Given the description of an element on the screen output the (x, y) to click on. 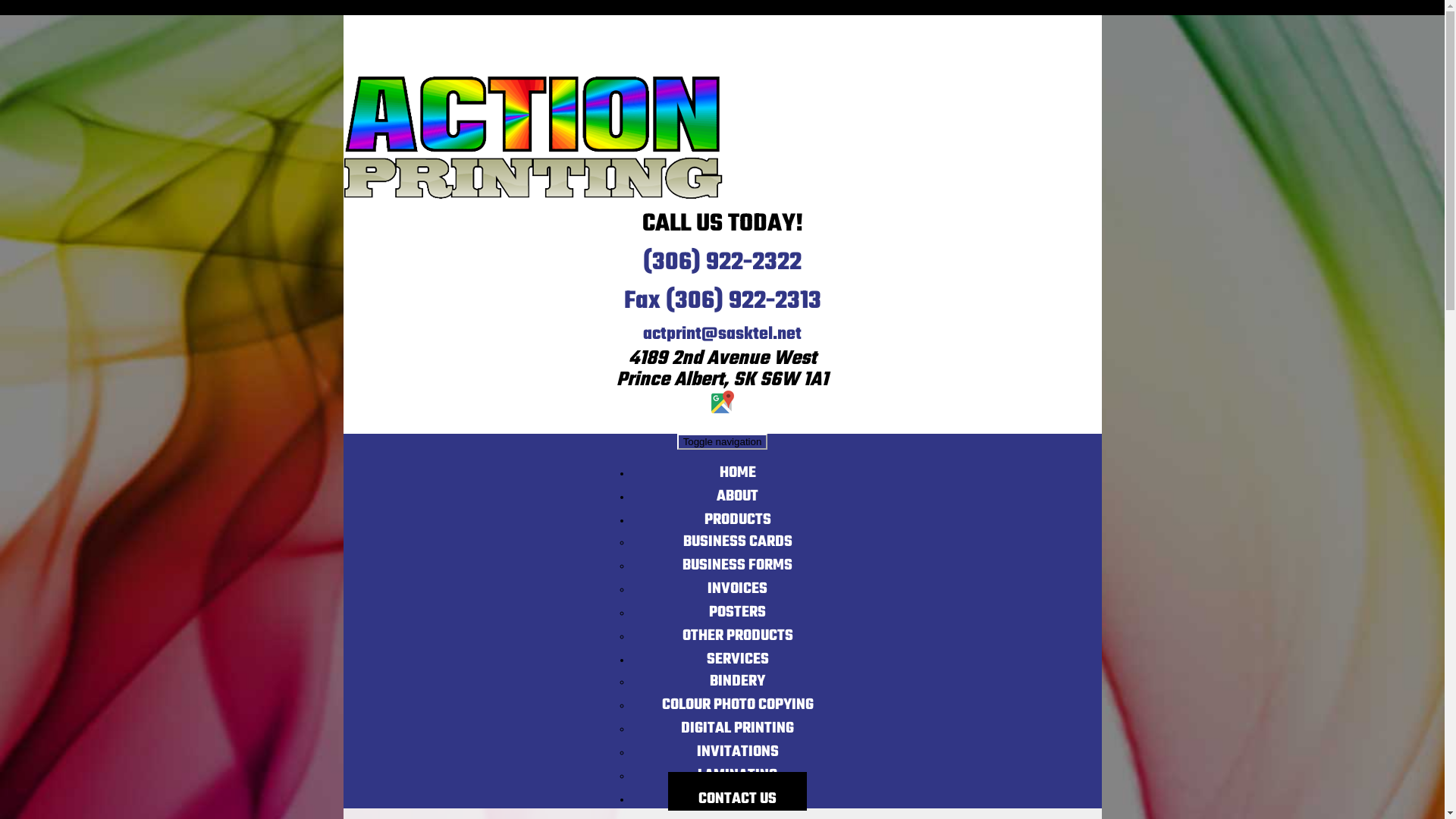
SERVICES Element type: text (737, 651)
CONTACT US Element type: text (737, 790)
(306) 922-2322 Element type: text (722, 262)
OTHER PRODUCTS Element type: text (737, 627)
HOME Element type: text (736, 464)
INVITATIONS Element type: text (736, 743)
DIGITAL PRINTING Element type: text (737, 720)
BUSINESS CARDS Element type: text (737, 533)
BINDERY Element type: text (737, 673)
PRODUCTS Element type: text (736, 511)
LAMINATING Element type: text (737, 767)
BUSINESS FORMS Element type: text (737, 557)
POSTERS Element type: text (737, 604)
Toggle navigation Element type: text (722, 441)
COLOUR PHOTO COPYING Element type: text (736, 696)
ABOUT Element type: text (737, 488)
INVOICES Element type: text (737, 580)
actprint@sasktel.net Element type: text (722, 334)
Google Map Icon Element type: hover (722, 401)
